Given the description of an element on the screen output the (x, y) to click on. 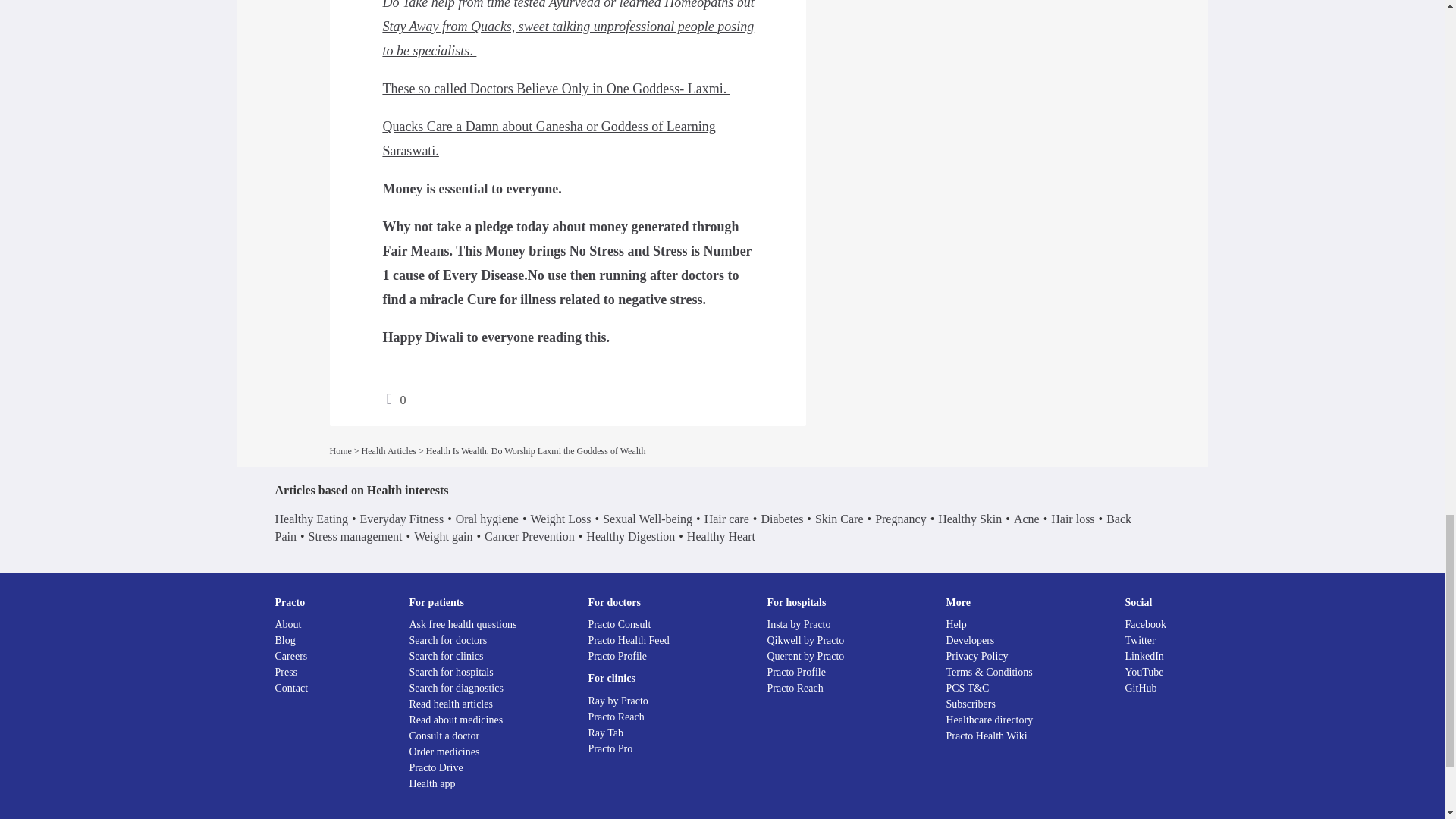
Diabetes (781, 518)
Order medicines (444, 751)
Stress management (355, 535)
Healthy Eating (311, 518)
Contact (291, 687)
Sexual Well-being (647, 518)
Everyday Fitness (401, 518)
Ask free health questions (462, 624)
Read about medicines (456, 719)
Weight Loss (560, 518)
Acne (1026, 518)
Health Articles (388, 450)
Pregnancy (900, 518)
Practo Drive (436, 767)
Careers (291, 655)
